Given the description of an element on the screen output the (x, y) to click on. 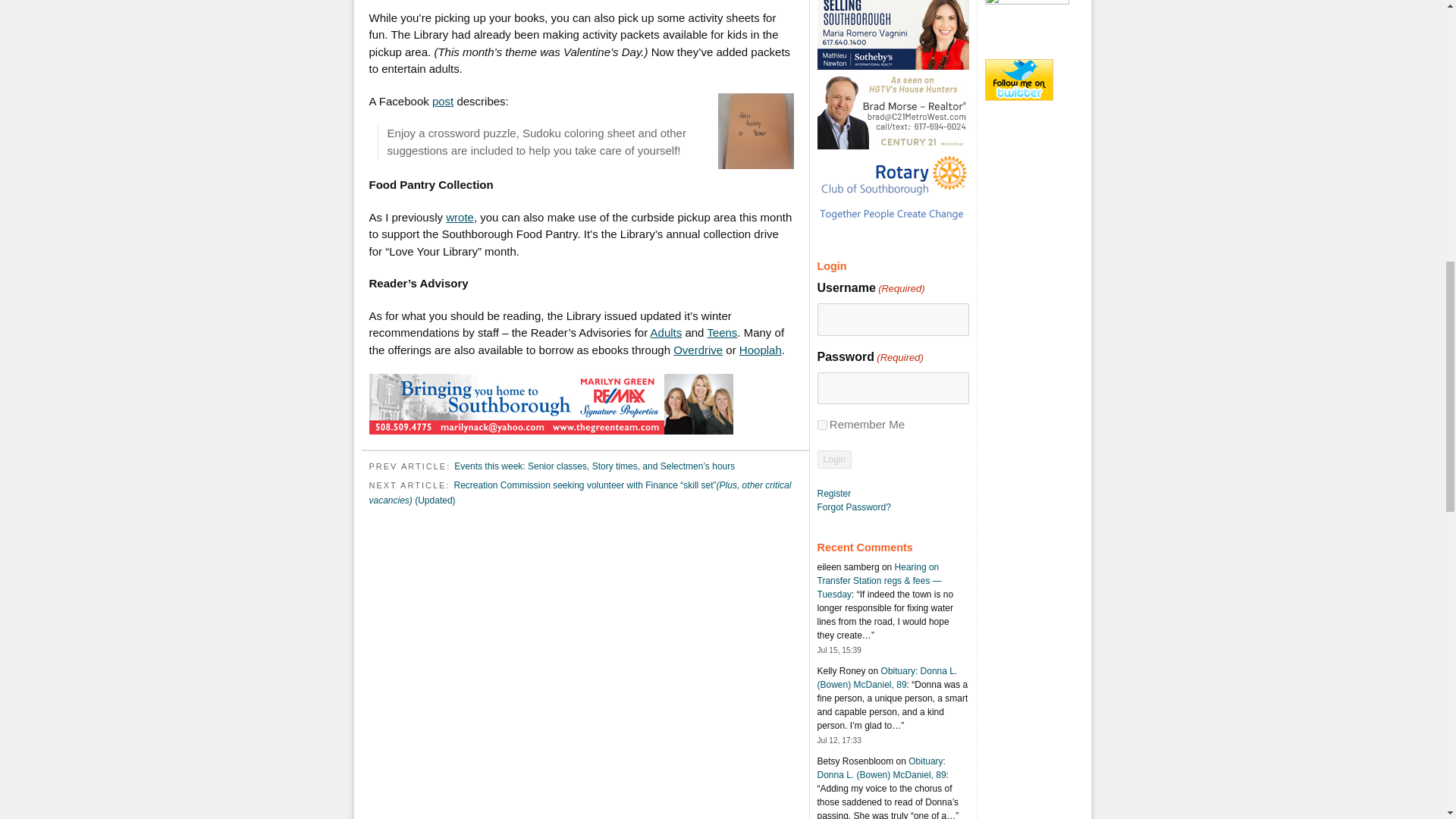
1 (821, 424)
Login (833, 459)
